Given the description of an element on the screen output the (x, y) to click on. 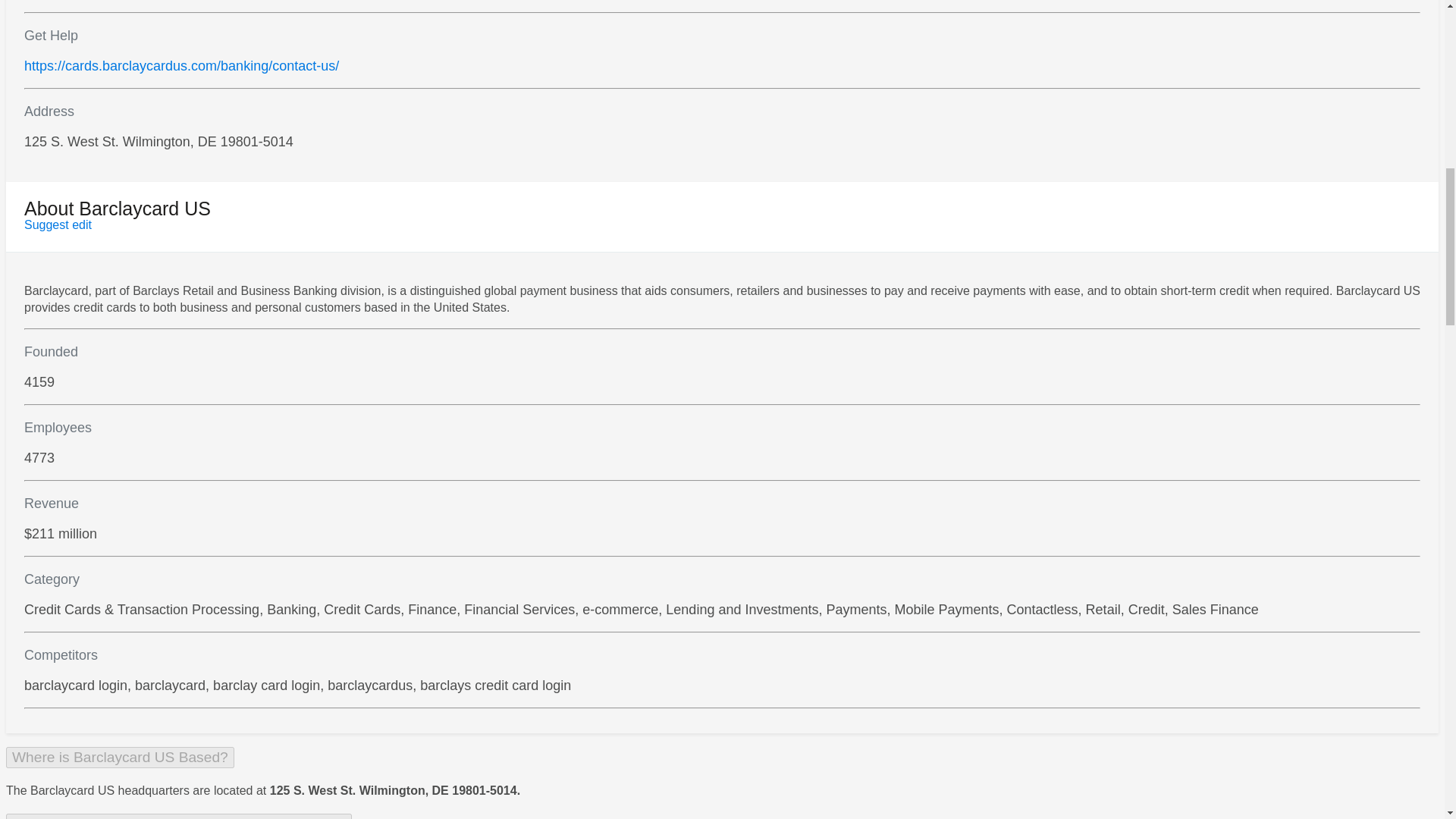
Where is Barclaycard US Based? (119, 757)
How Many Employees Does Barclaycard US Have? (178, 816)
Suggest edit (57, 224)
